Given the description of an element on the screen output the (x, y) to click on. 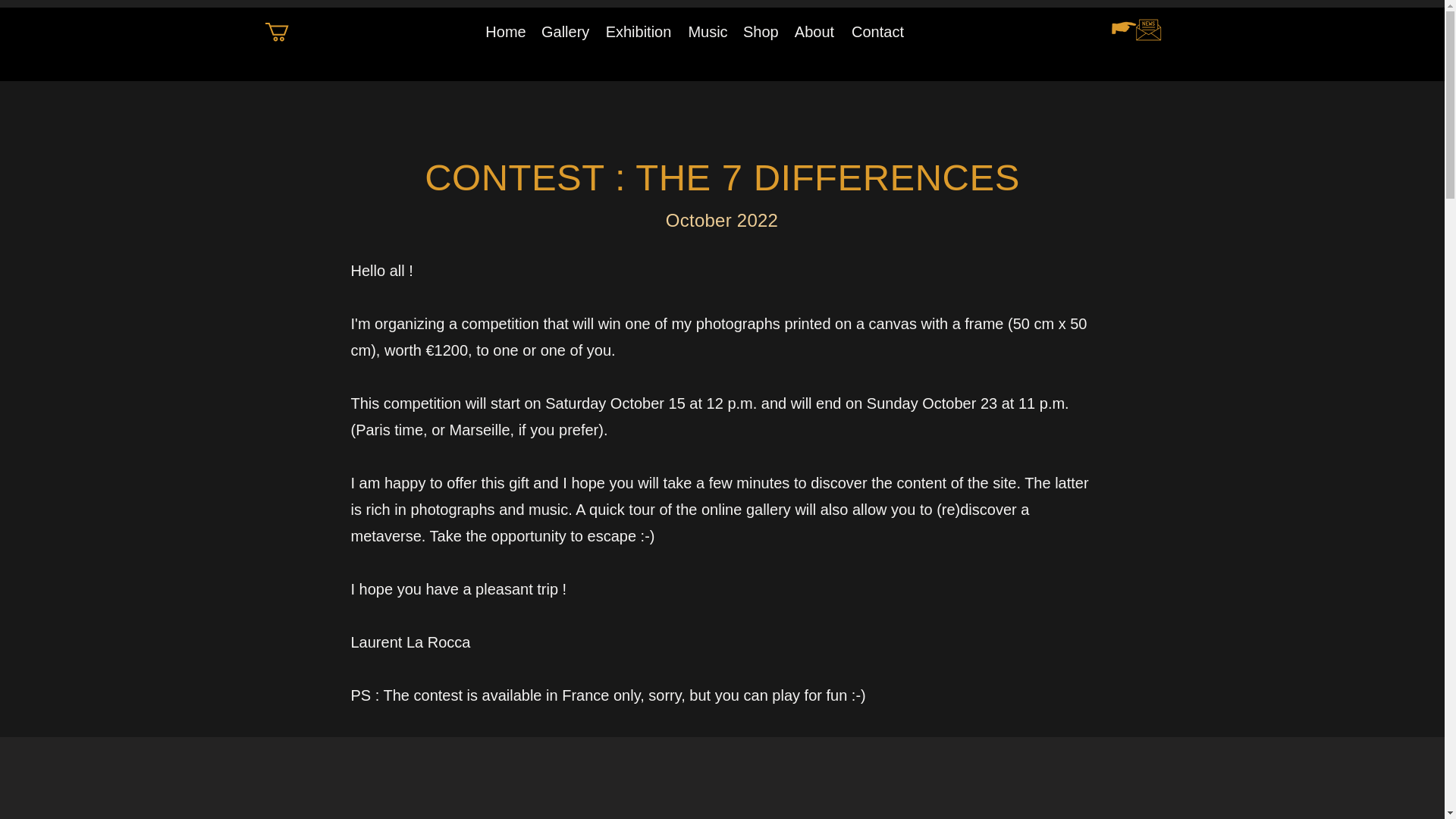
Home (505, 31)
About (814, 31)
Contact (877, 31)
Gallery (565, 31)
Music (707, 31)
Shop (760, 31)
Exhibition (637, 31)
